Given the description of an element on the screen output the (x, y) to click on. 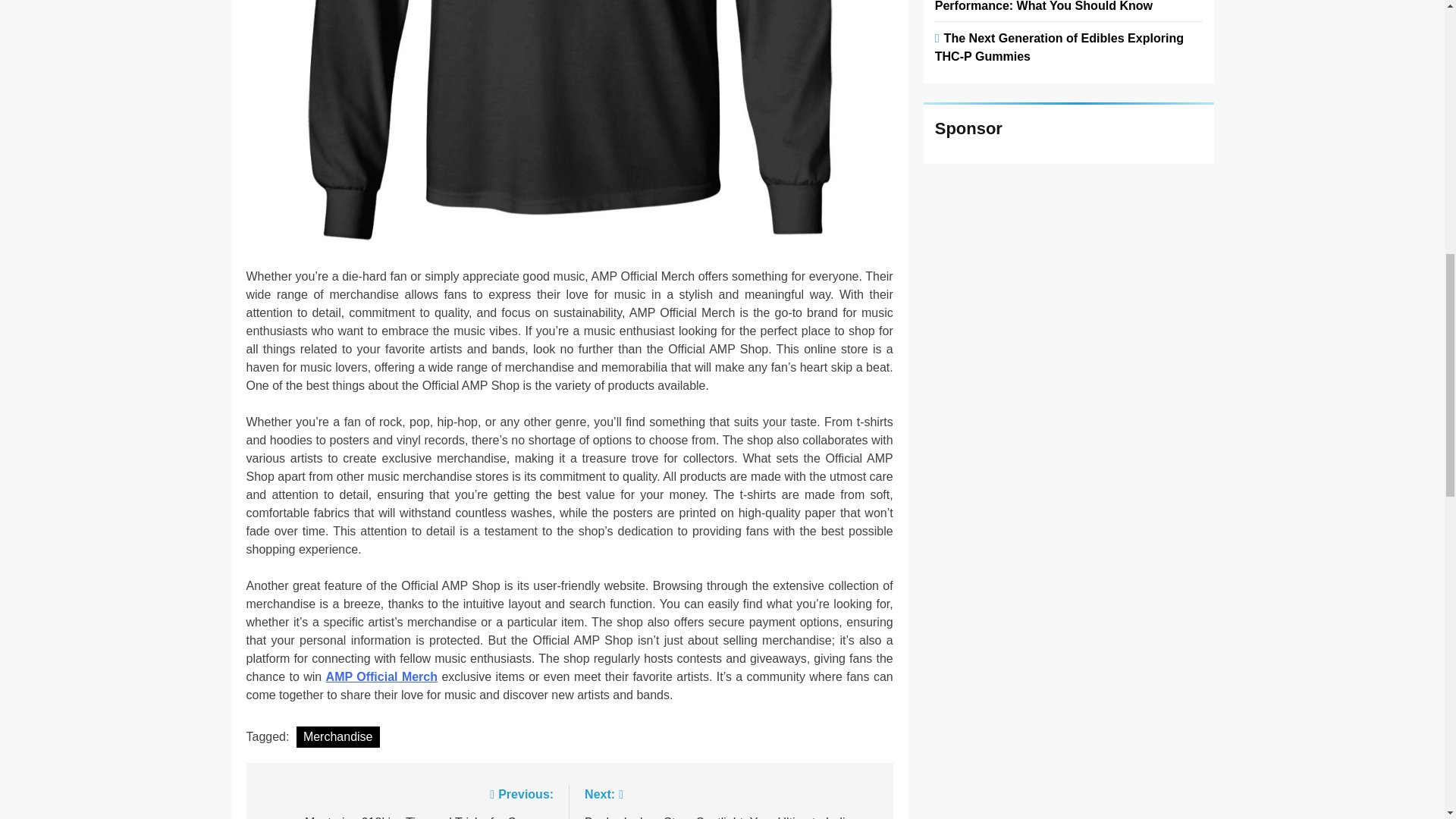
AMP Official Merch (382, 676)
Merchandise (406, 802)
